Given the description of an element on the screen output the (x, y) to click on. 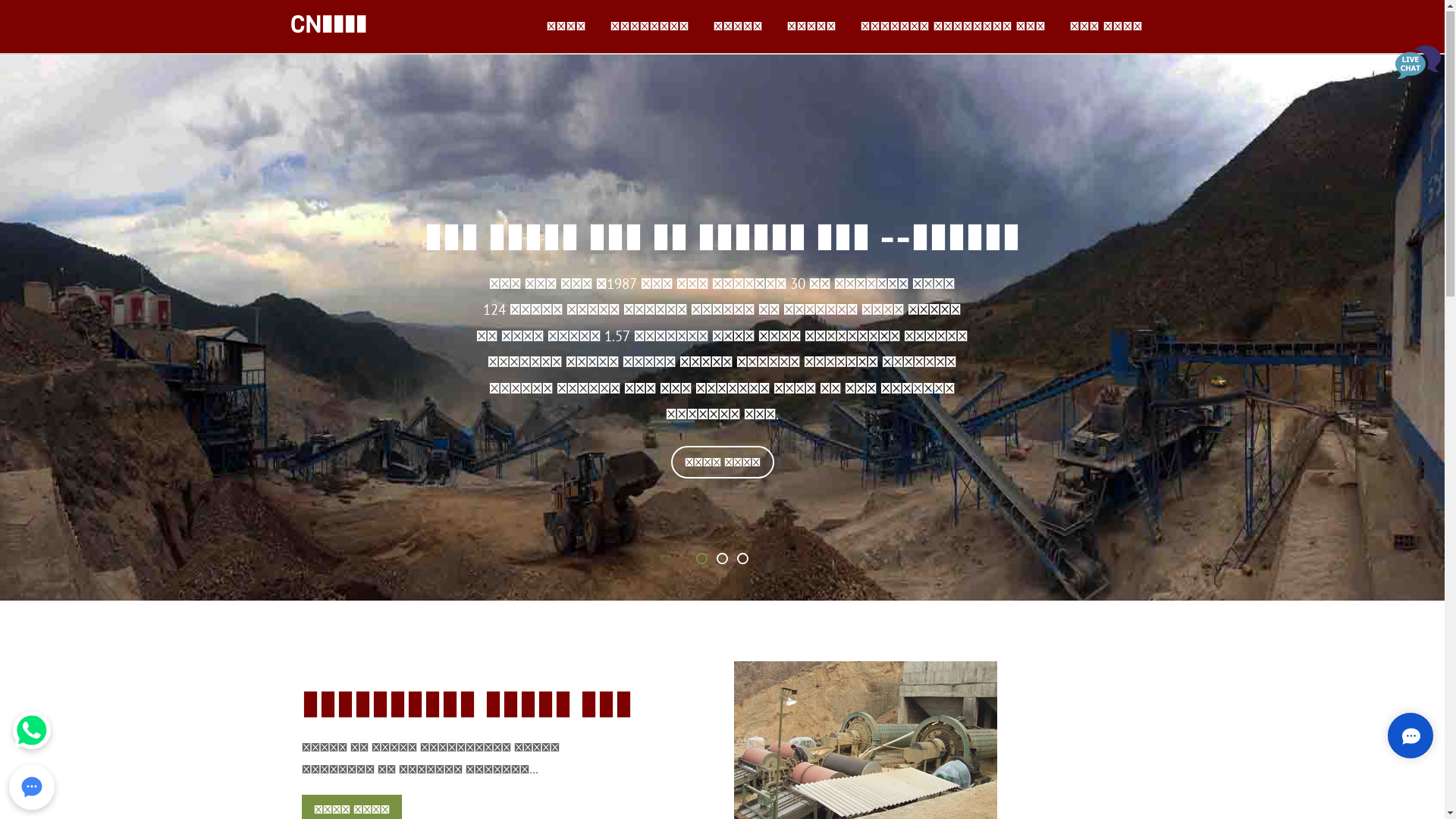
2 Element type: text (722, 558)
1 Element type: text (701, 558)
3 Element type: text (742, 558)
